Given the description of an element on the screen output the (x, y) to click on. 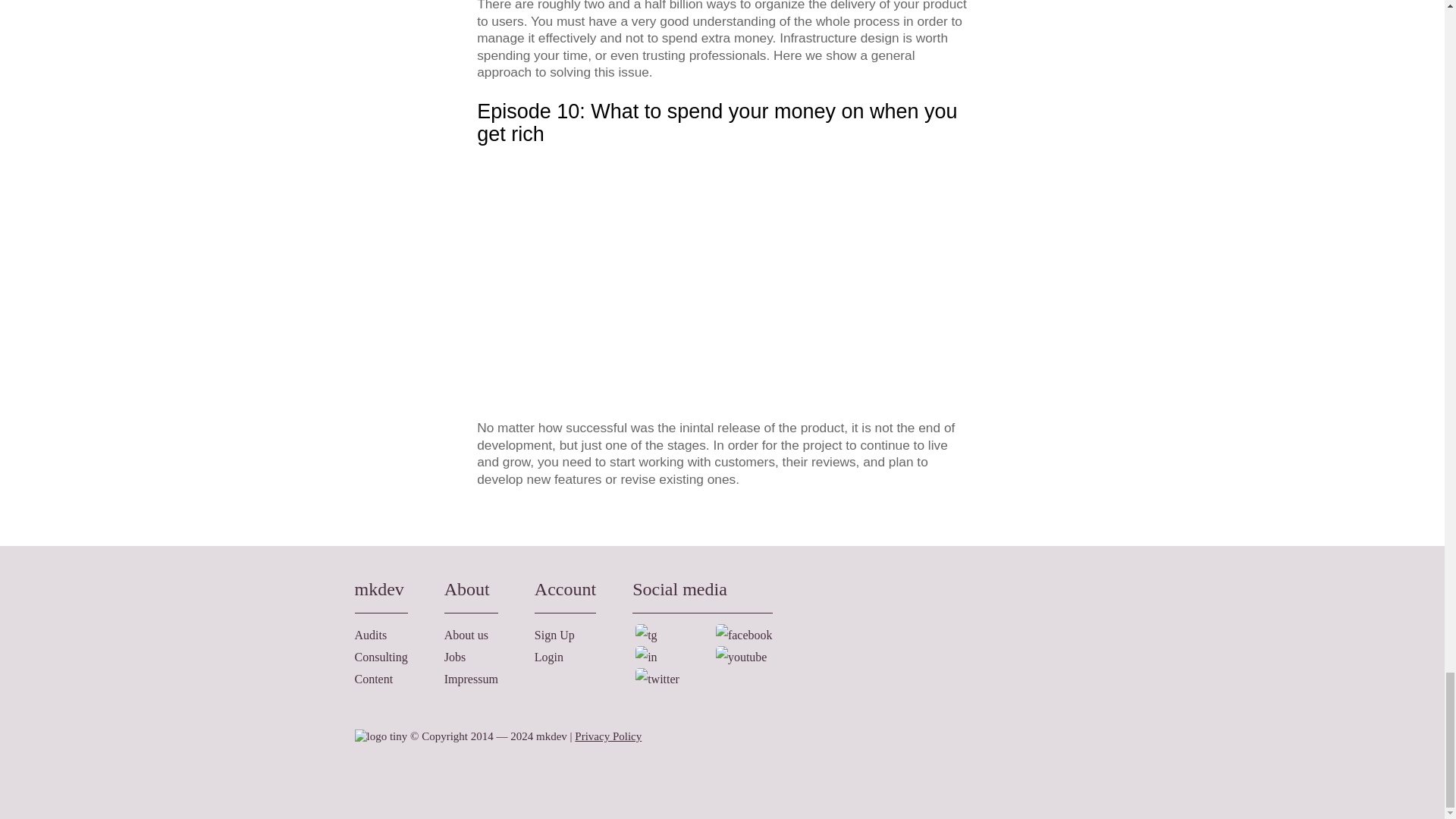
Sign Up (554, 634)
Consulting (381, 656)
Audits (371, 634)
Content (374, 678)
YouTube video player (722, 275)
About us (465, 634)
Impressum (470, 678)
Login (548, 656)
Privacy Policy (608, 736)
Jobs (454, 656)
